Given the description of an element on the screen output the (x, y) to click on. 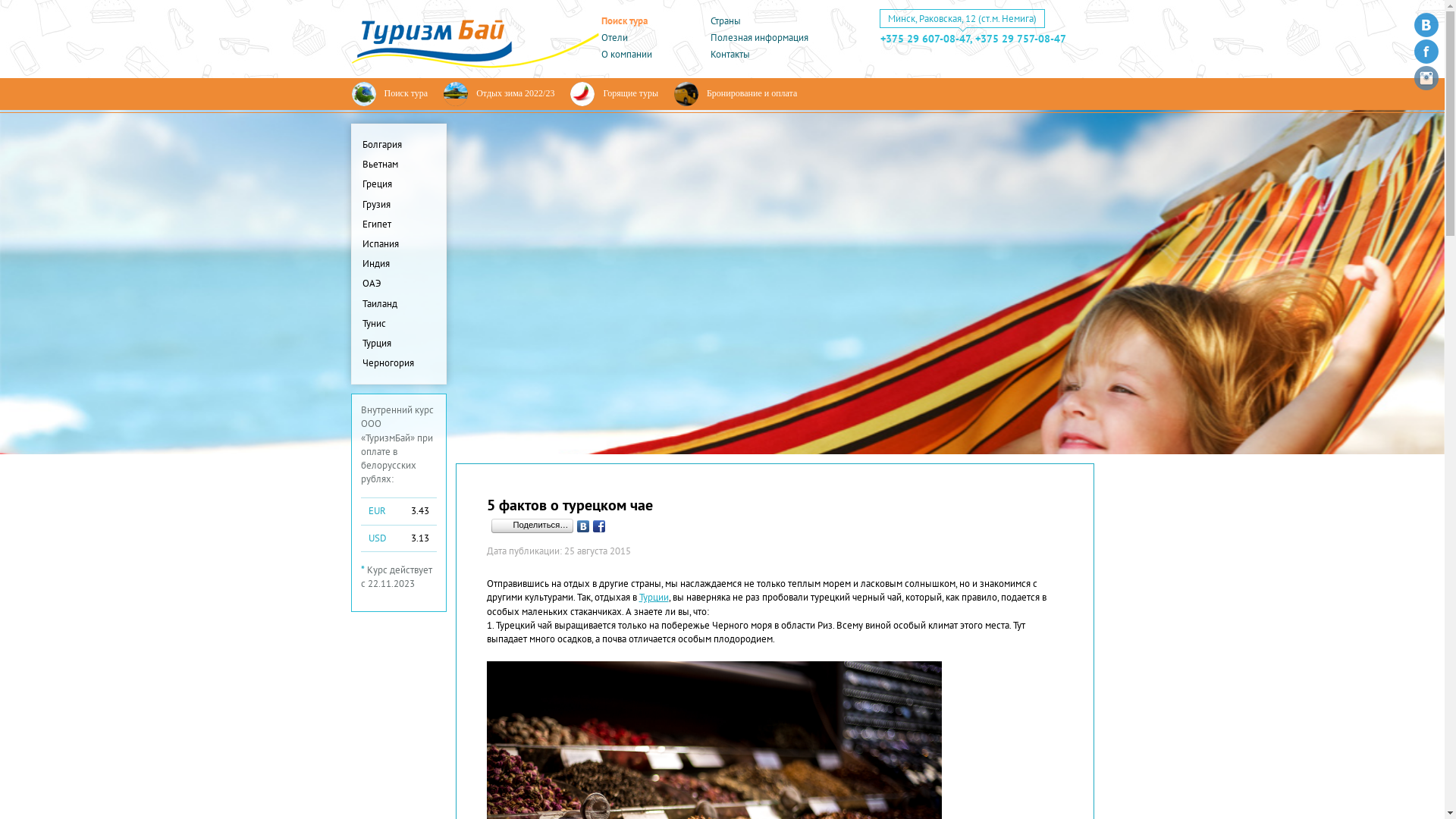
Facebook Element type: hover (599, 526)
